Given the description of an element on the screen output the (x, y) to click on. 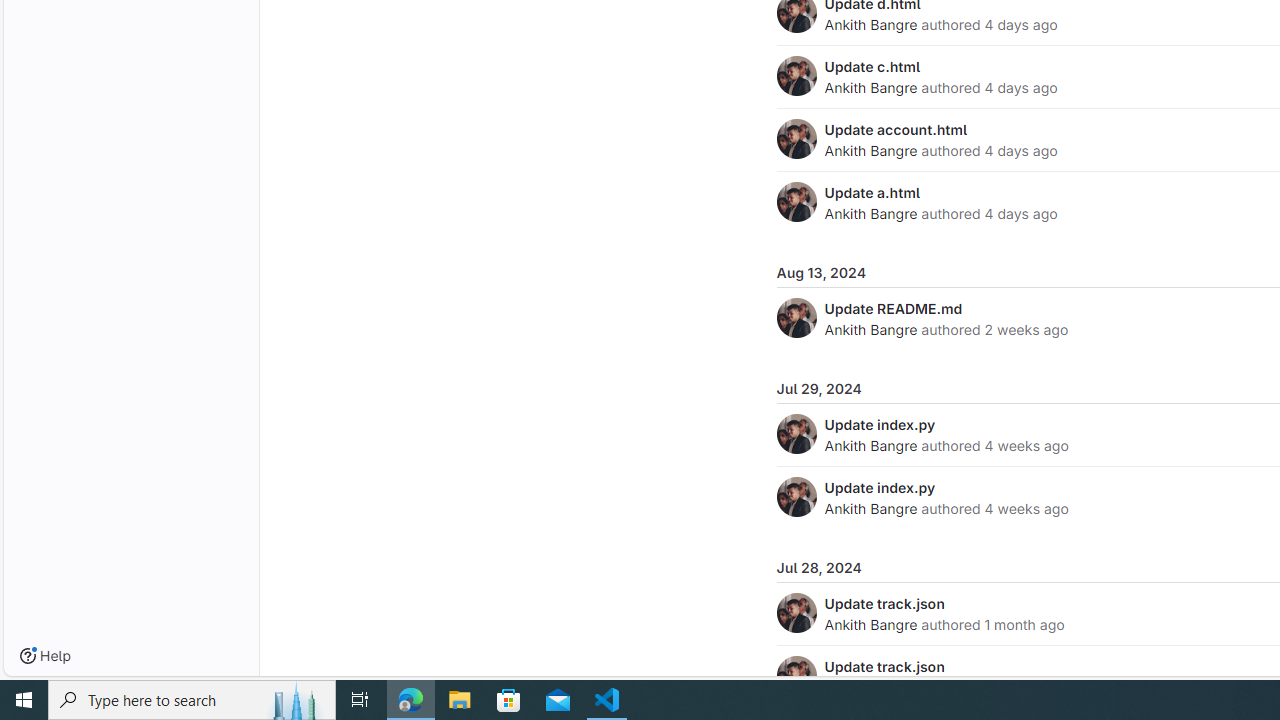
Update a.html (872, 192)
Update index.py (879, 487)
Help (45, 655)
Update track.json (884, 666)
Update README.md (893, 308)
Ankith Bangre's avatar (795, 675)
Ankith Bangre (870, 624)
Update c.html (872, 66)
Ankith Bangre's avatar (795, 675)
Update account.html (895, 129)
